Given the description of an element on the screen output the (x, y) to click on. 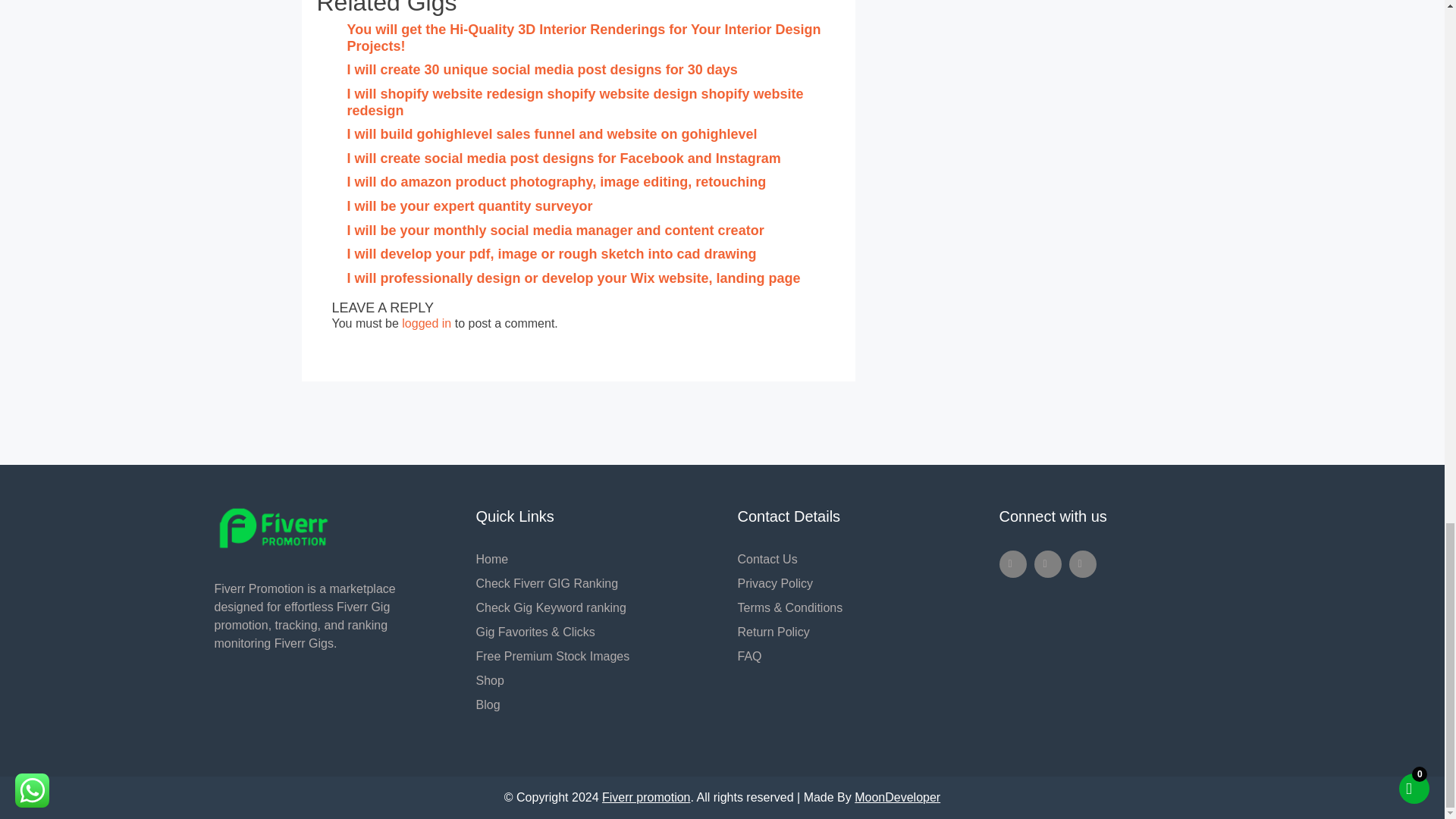
I will be your expert quantity surveyor (469, 206)
